Given the description of an element on the screen output the (x, y) to click on. 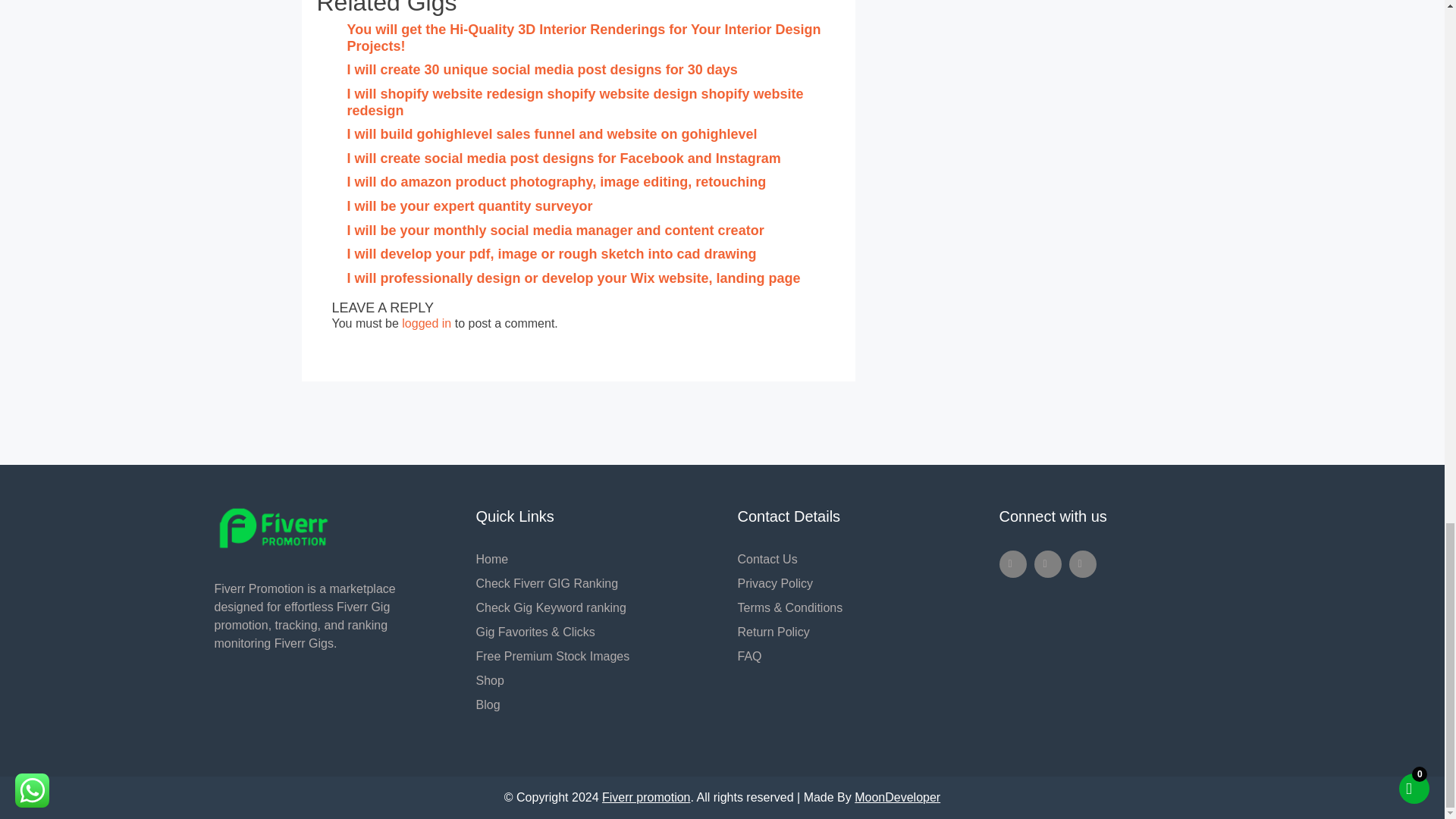
I will be your expert quantity surveyor (469, 206)
